Given the description of an element on the screen output the (x, y) to click on. 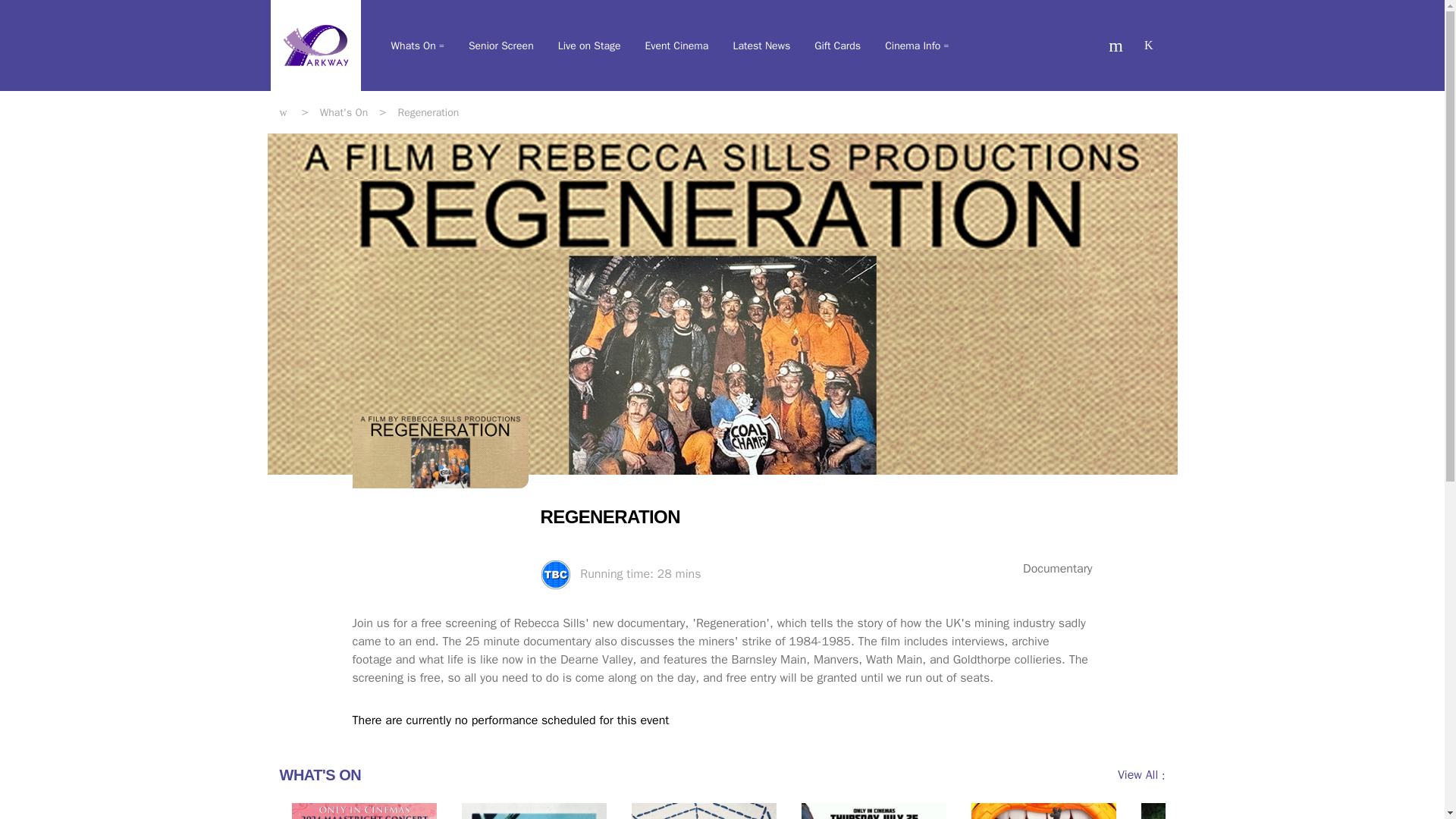
Live on Stage (589, 45)
Senior Screen (501, 45)
Whats On (417, 45)
Latest News (761, 45)
Event Cinema (676, 45)
Cinema Info (917, 45)
Gift Cards (836, 45)
